Given the description of an element on the screen output the (x, y) to click on. 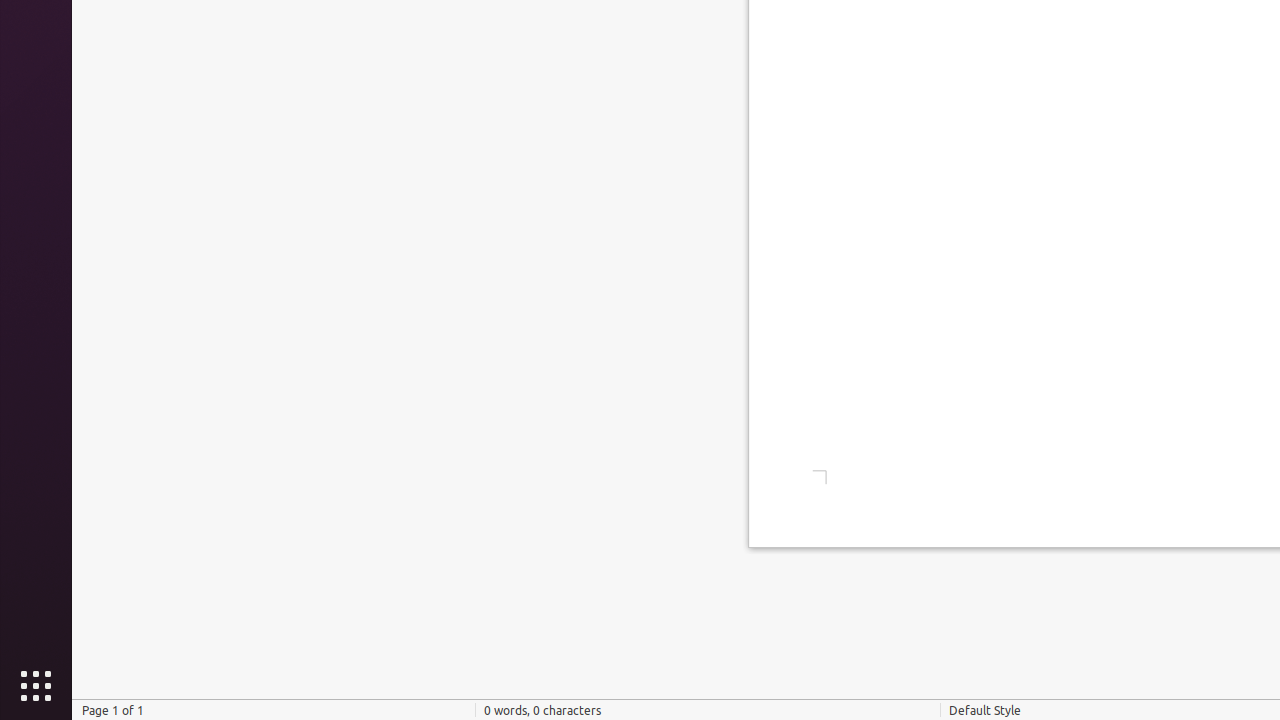
Show Applications Element type: toggle-button (36, 686)
